Given the description of an element on the screen output the (x, y) to click on. 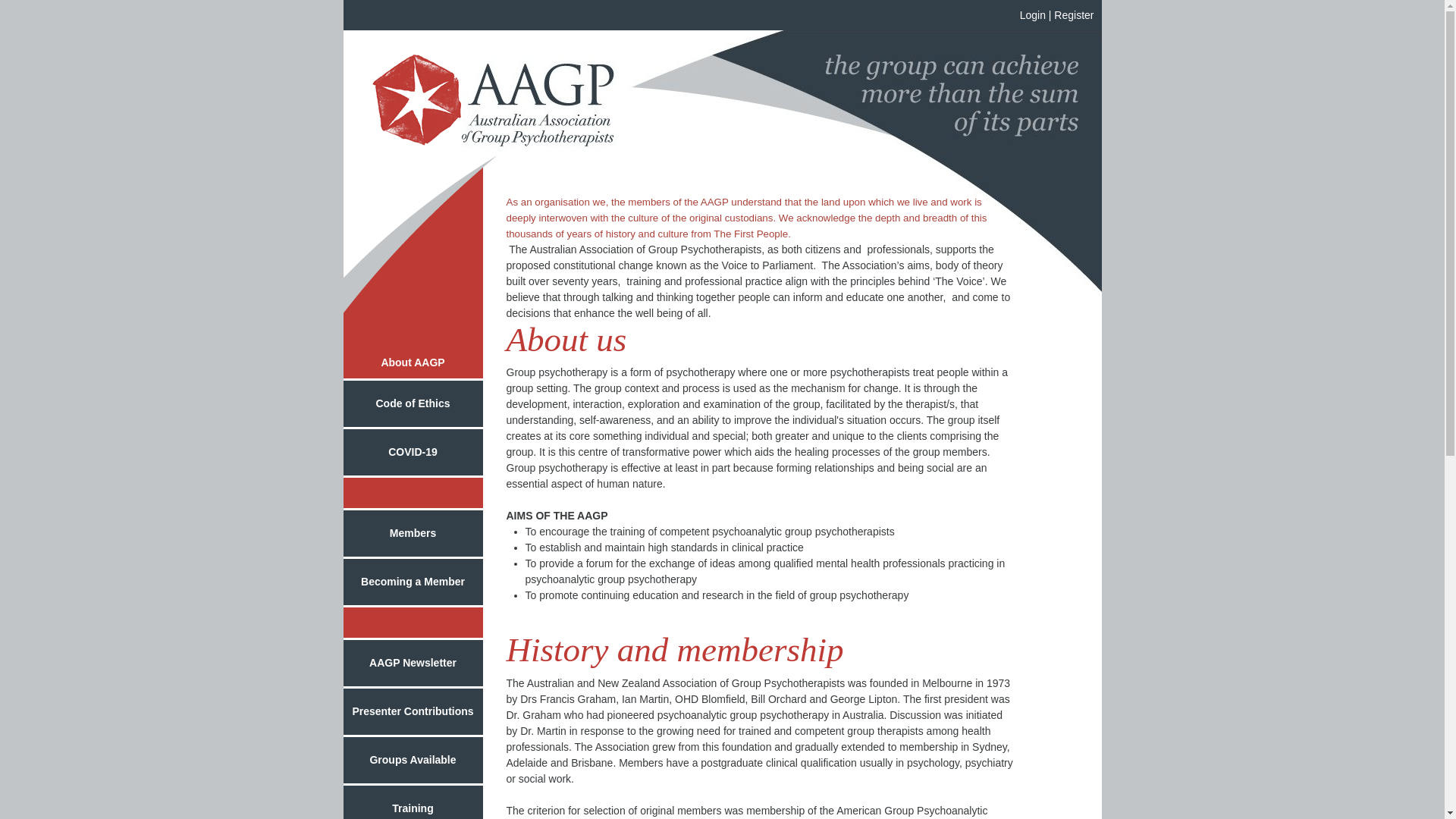
Register Element type: text (1073, 15)
COVID-19 Element type: text (412, 453)
Login Element type: text (1032, 15)
Members Element type: text (412, 534)
AAGP Newsletter Element type: text (412, 664)
Code of Ethics Element type: text (412, 404)
Presenter Contributions Element type: text (412, 712)
Becoming a Member Element type: text (412, 582)
About AAGP Element type: text (412, 363)
Groups Available Element type: text (412, 761)
